Given the description of an element on the screen output the (x, y) to click on. 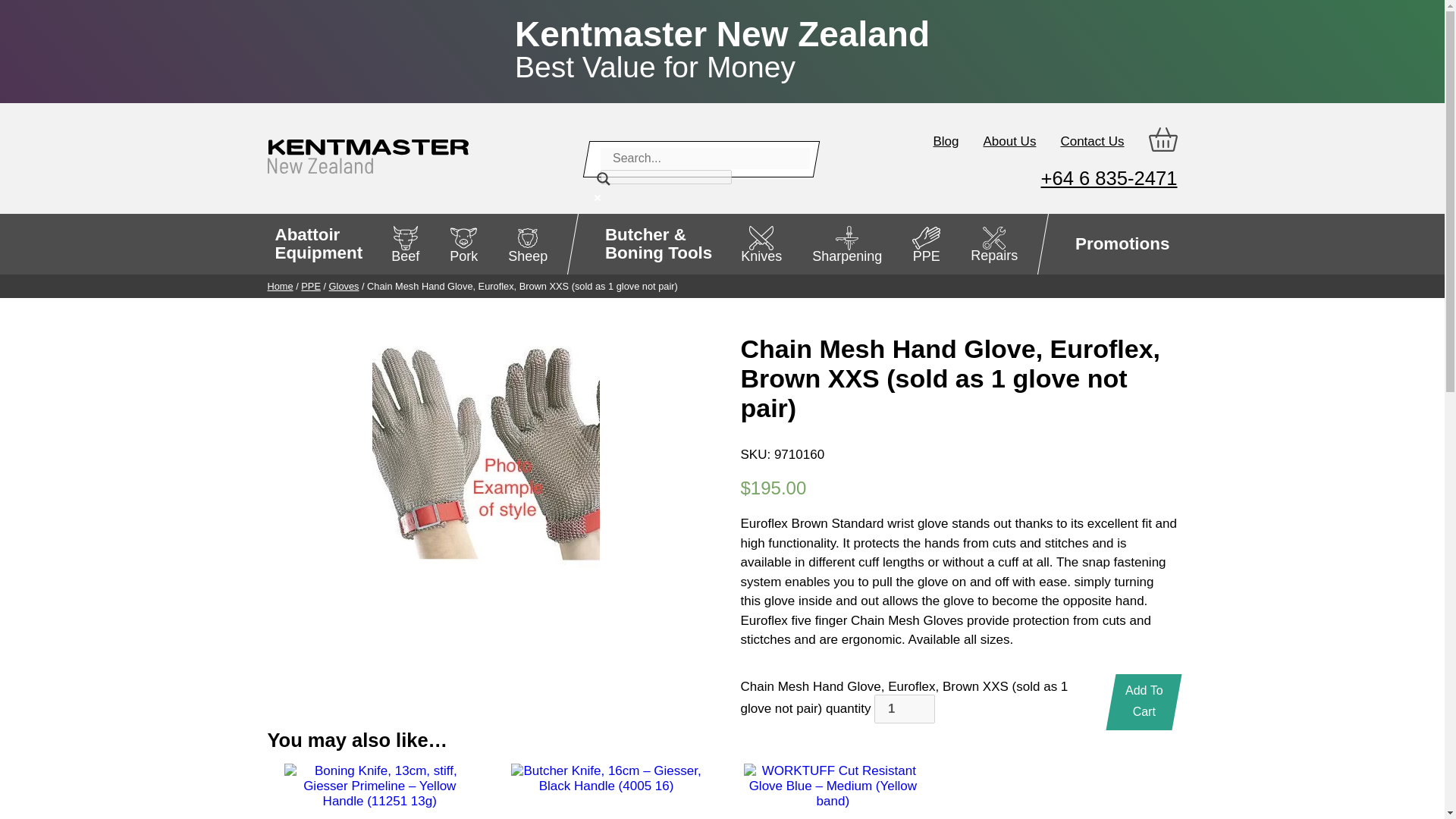
Sharpening tools (847, 243)
Qty (904, 708)
Repairs (993, 243)
Sheep (527, 243)
PPE (310, 285)
About Us (1008, 141)
Gift Ideas for Butcher (1121, 243)
Butcher knives (761, 243)
Call Us (1108, 178)
Contact Us (1091, 141)
